Given the description of an element on the screen output the (x, y) to click on. 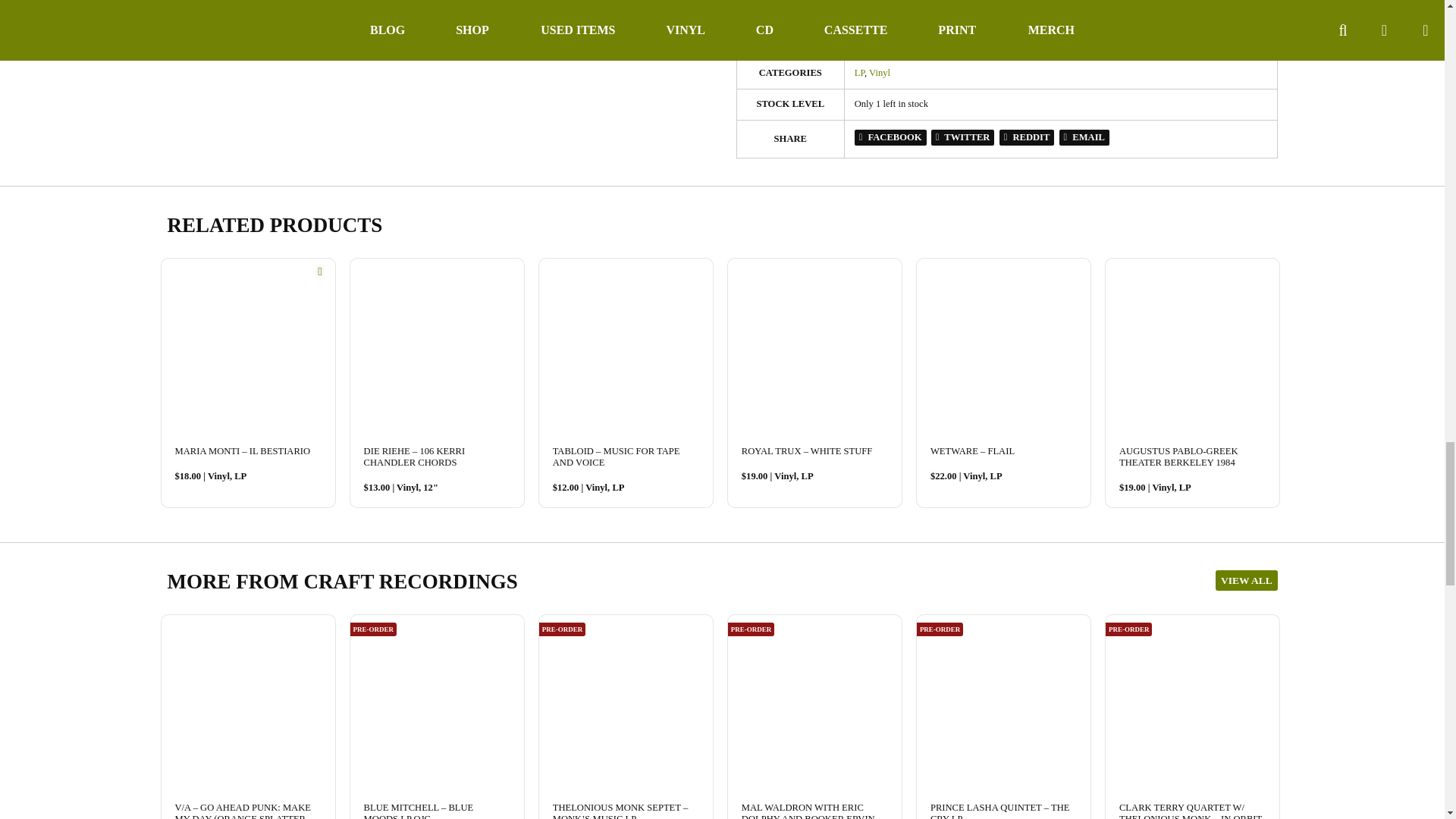
Staff Pick (319, 271)
Share on Twitter (962, 137)
Share on Facebook (890, 137)
Share on Reddit (1026, 137)
Share via Email (1084, 137)
